Given the description of an element on the screen output the (x, y) to click on. 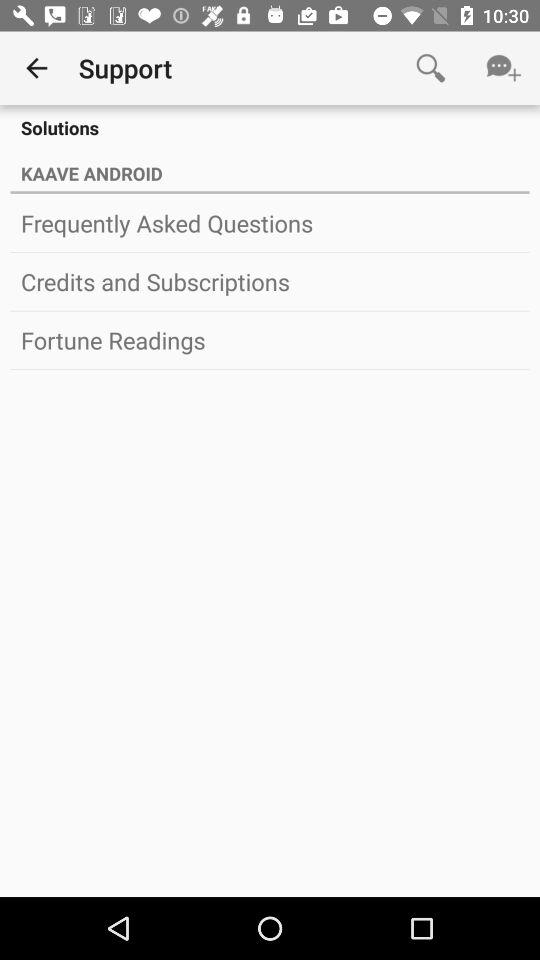
tap item above credits and subscriptions (269, 223)
